Given the description of an element on the screen output the (x, y) to click on. 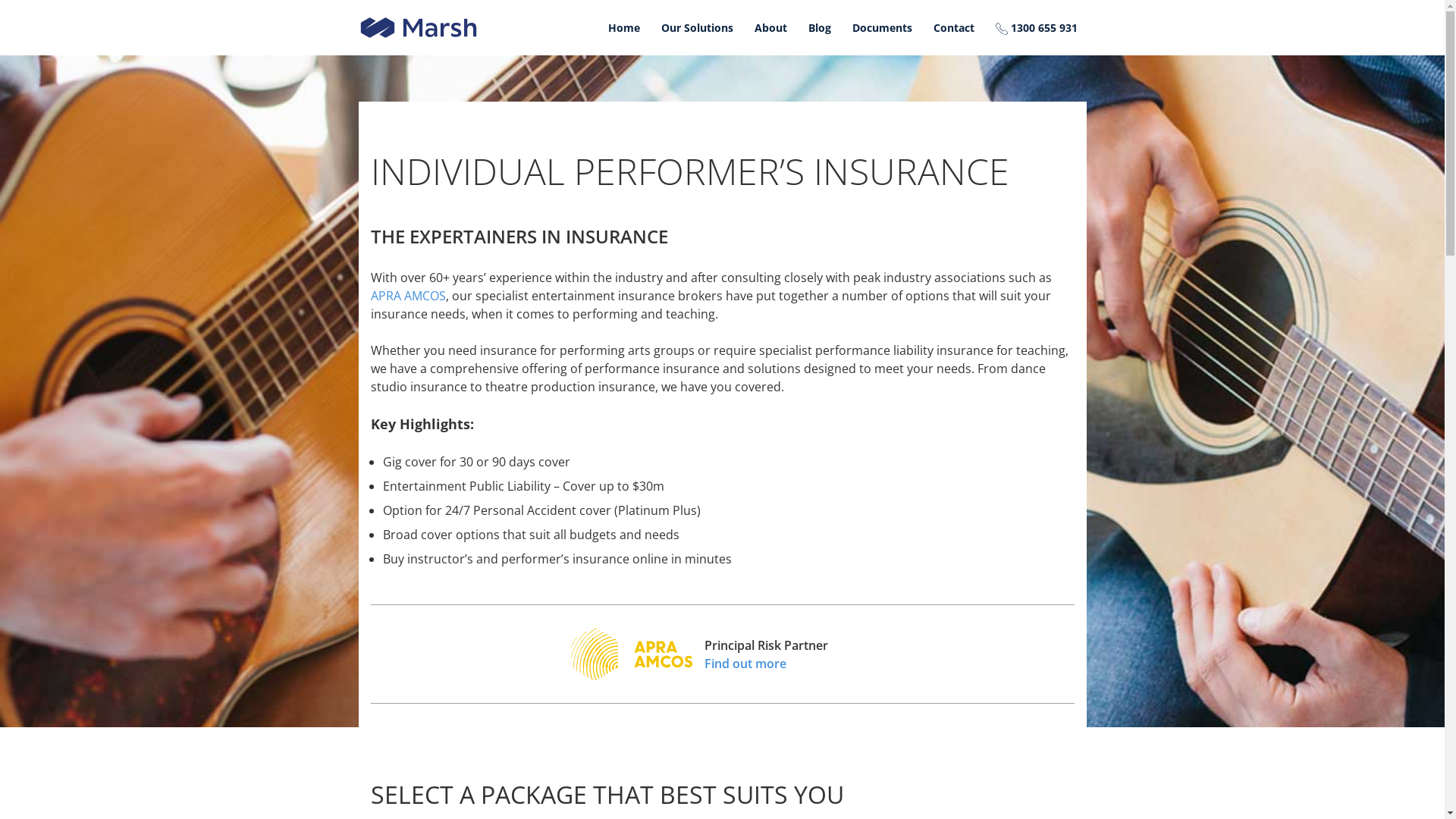
Blog Element type: text (819, 27)
1300 655 931 Element type: text (1036, 27)
Home Element type: text (624, 27)
Find out more Element type: text (765, 663)
Documents Element type: text (882, 27)
Contact Element type: text (953, 27)
Our Solutions Element type: text (697, 27)
APRA AMCOS Element type: text (407, 295)
About Element type: text (770, 27)
